Given the description of an element on the screen output the (x, y) to click on. 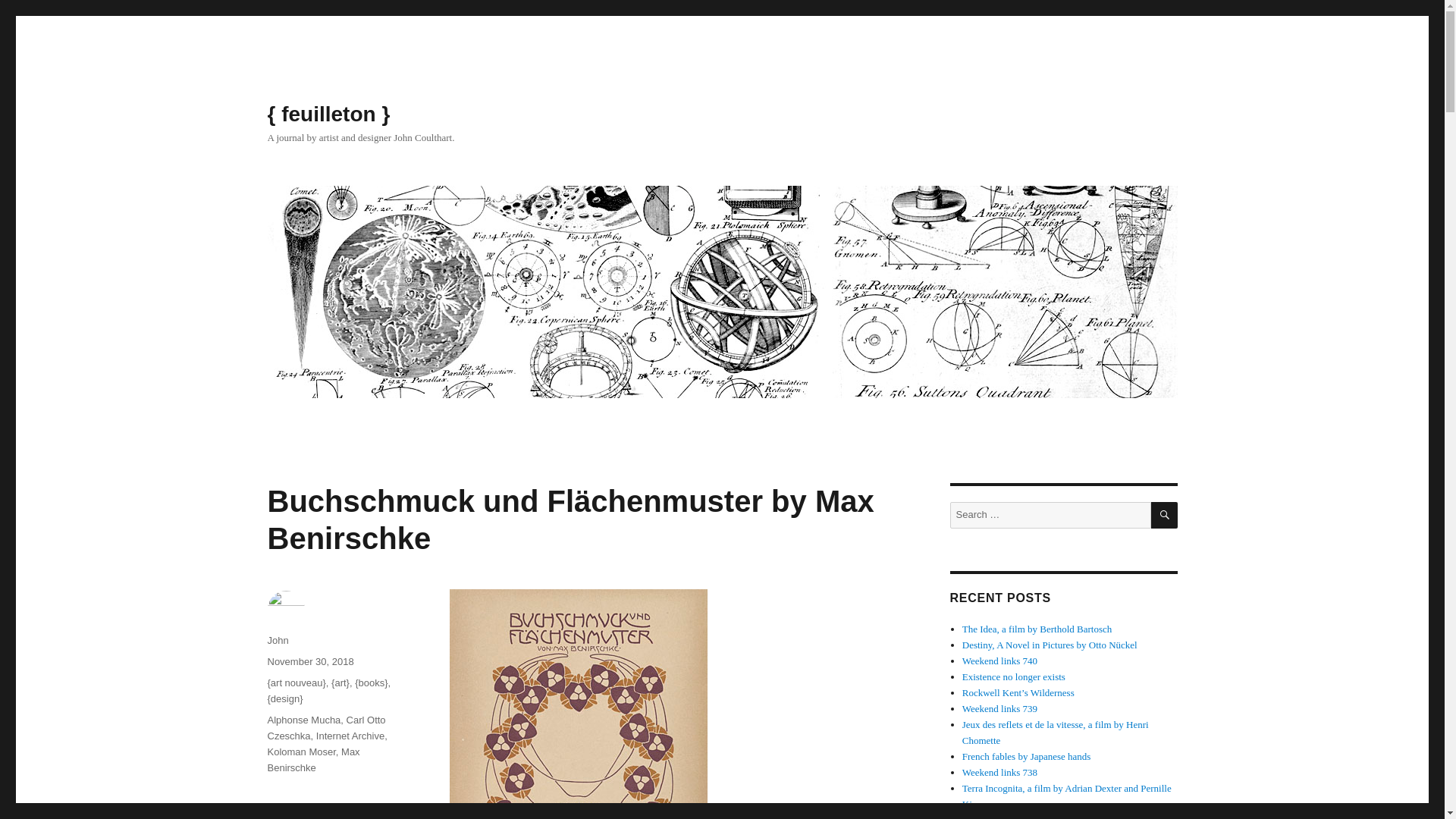
Max Benirschke (312, 759)
Terra Incognita, a film by Adrian Dexter and Pernille Kjaer (1067, 795)
Carl Otto Czeschka (325, 728)
Weekend links 740 (999, 660)
Existence no longer exists (1013, 676)
Internet Archive (349, 736)
The Idea, a film by Berthold Bartosch (1037, 628)
Weekend links 738 (999, 772)
John (277, 640)
French fables by Japanese hands (1026, 756)
